Given the description of an element on the screen output the (x, y) to click on. 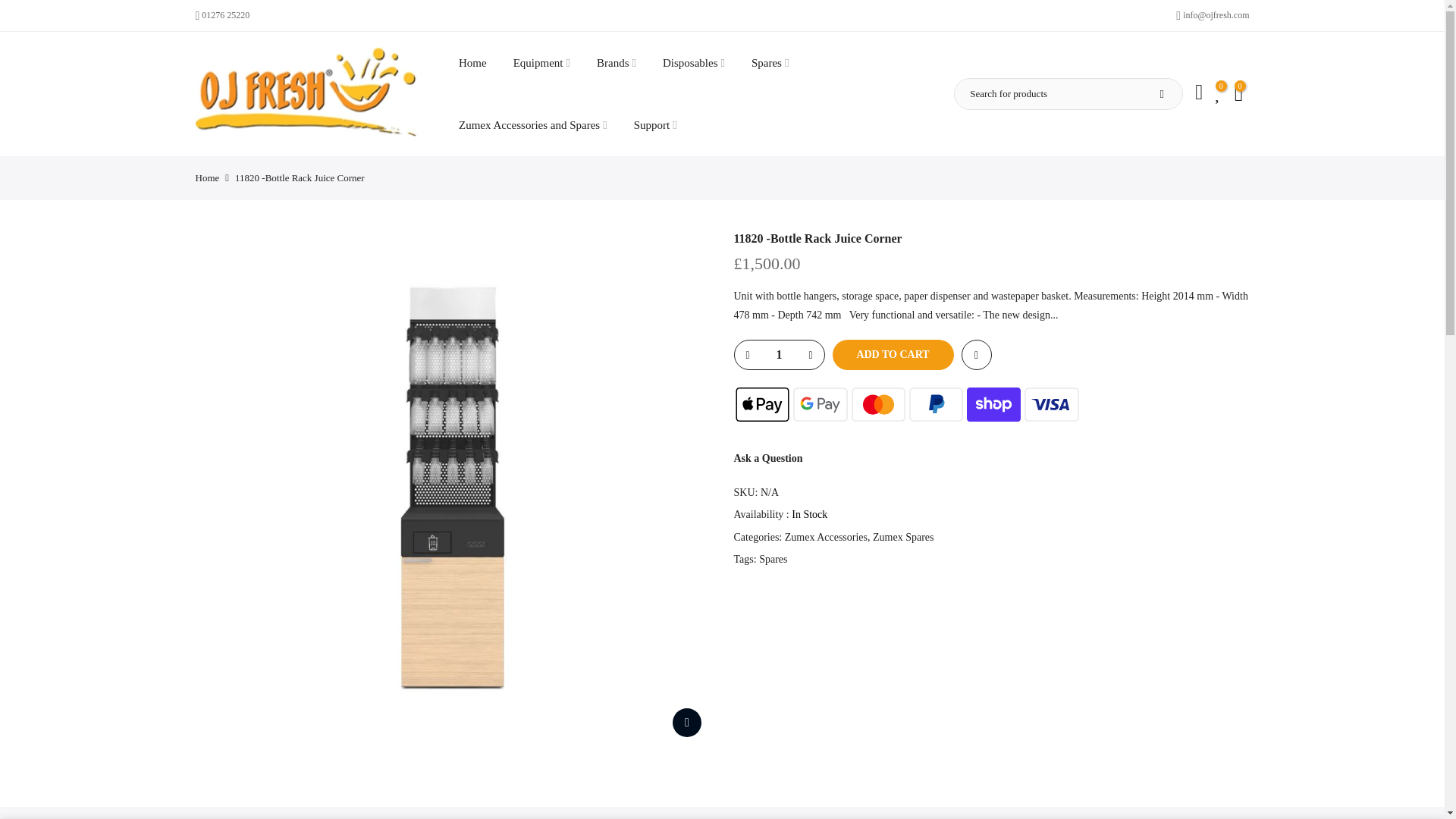
Zumex Accessories and Spares (533, 125)
Home (207, 178)
ADD TO CART (892, 354)
Zumex Spares (902, 536)
Brands (616, 62)
Zumex Accessories (825, 536)
Disposables (693, 62)
Support (655, 125)
Ask a Question (768, 458)
1 (778, 354)
Spares (770, 62)
Spares (772, 559)
Equipment (541, 62)
